Given the description of an element on the screen output the (x, y) to click on. 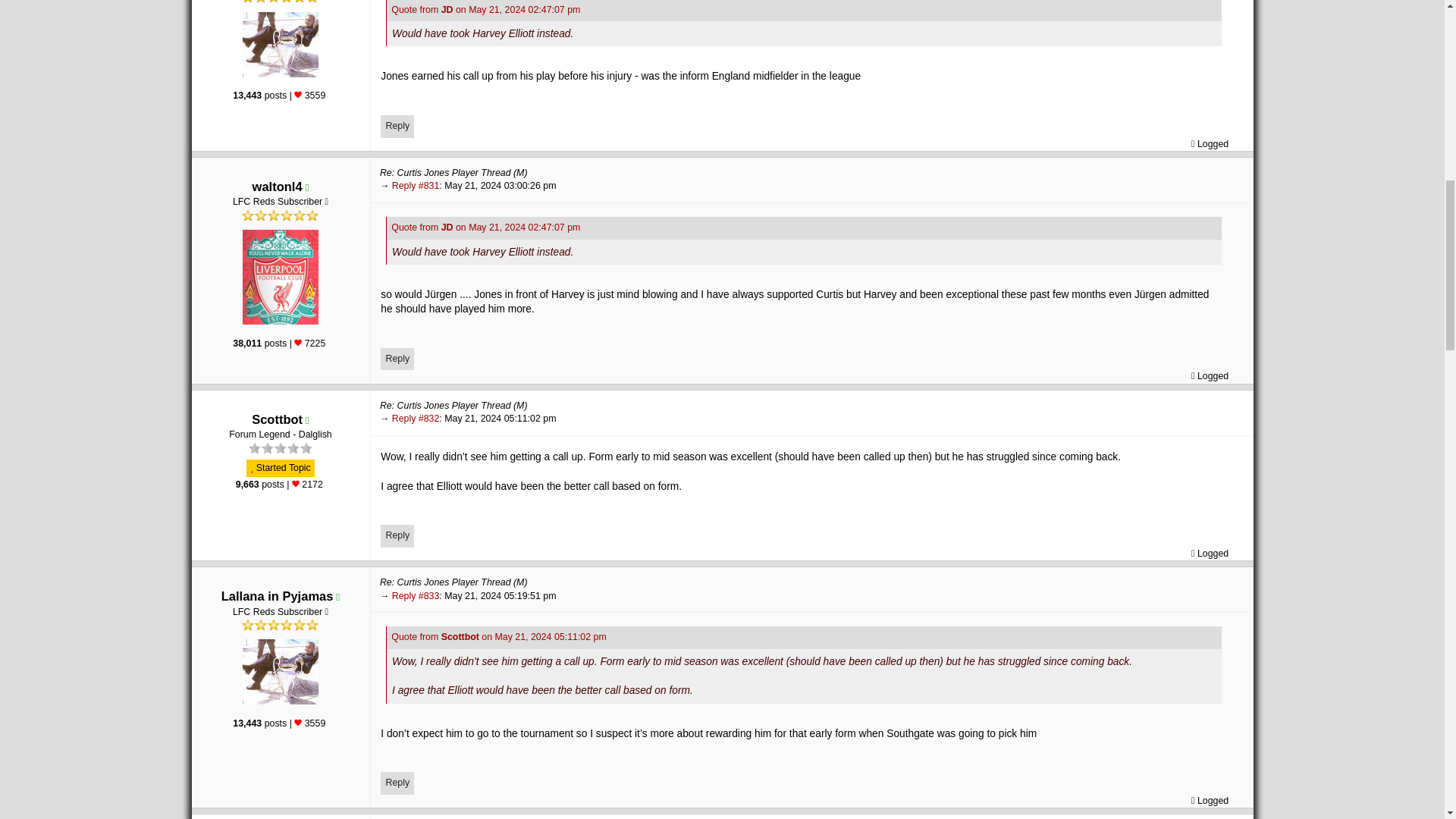
Post Rating (297, 722)
Post Rating (295, 483)
Post Rating (297, 342)
View the profile of waltonl4 (276, 186)
View the profile of Scottbot (276, 418)
View the profile of Lallana in Pyjamas (277, 595)
Post Rating (297, 94)
